Given the description of an element on the screen output the (x, y) to click on. 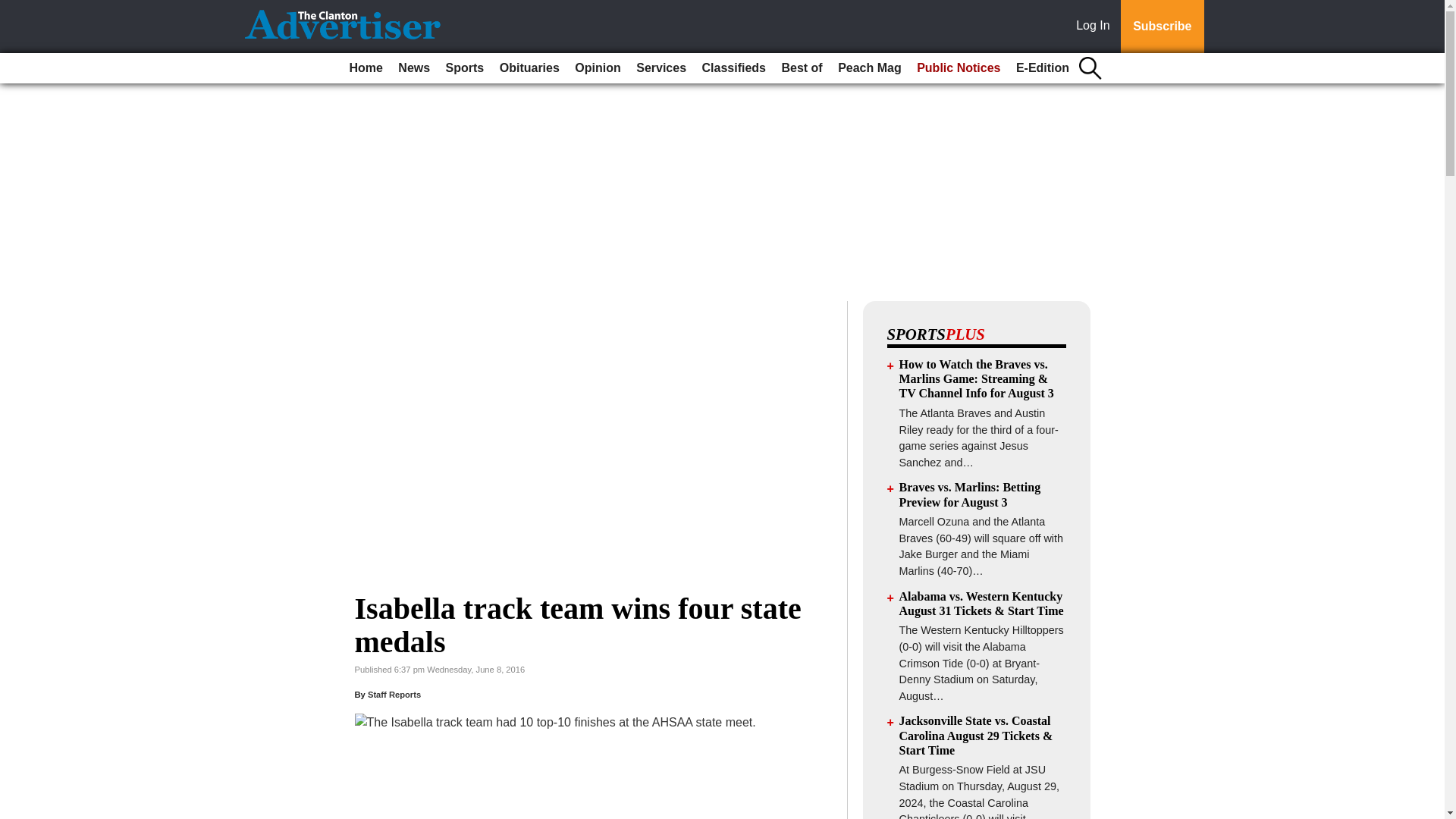
Obituaries (529, 68)
Home (365, 68)
Sports (464, 68)
Classifieds (733, 68)
Public Notices (958, 68)
Subscribe (1162, 26)
Log In (1095, 26)
News (413, 68)
Opinion (597, 68)
Peach Mag (869, 68)
Services (661, 68)
Staff Reports (394, 694)
Best of (801, 68)
E-Edition (1042, 68)
Go (13, 9)
